Given the description of an element on the screen output the (x, y) to click on. 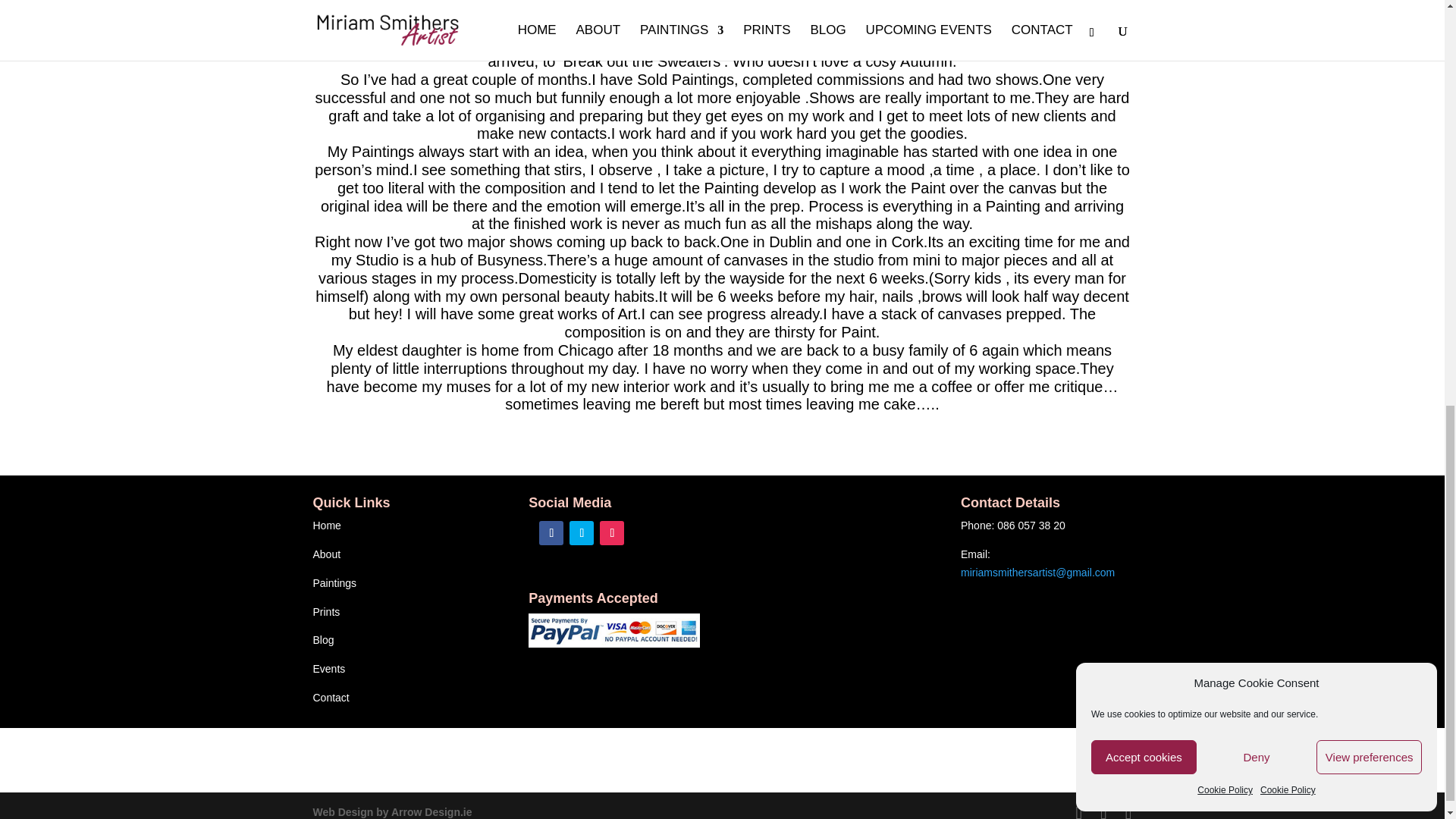
Follow on Facebook (550, 532)
Follow on Instagram (611, 532)
About (326, 553)
Home (326, 525)
Follow on Twitter (581, 532)
